Given the description of an element on the screen output the (x, y) to click on. 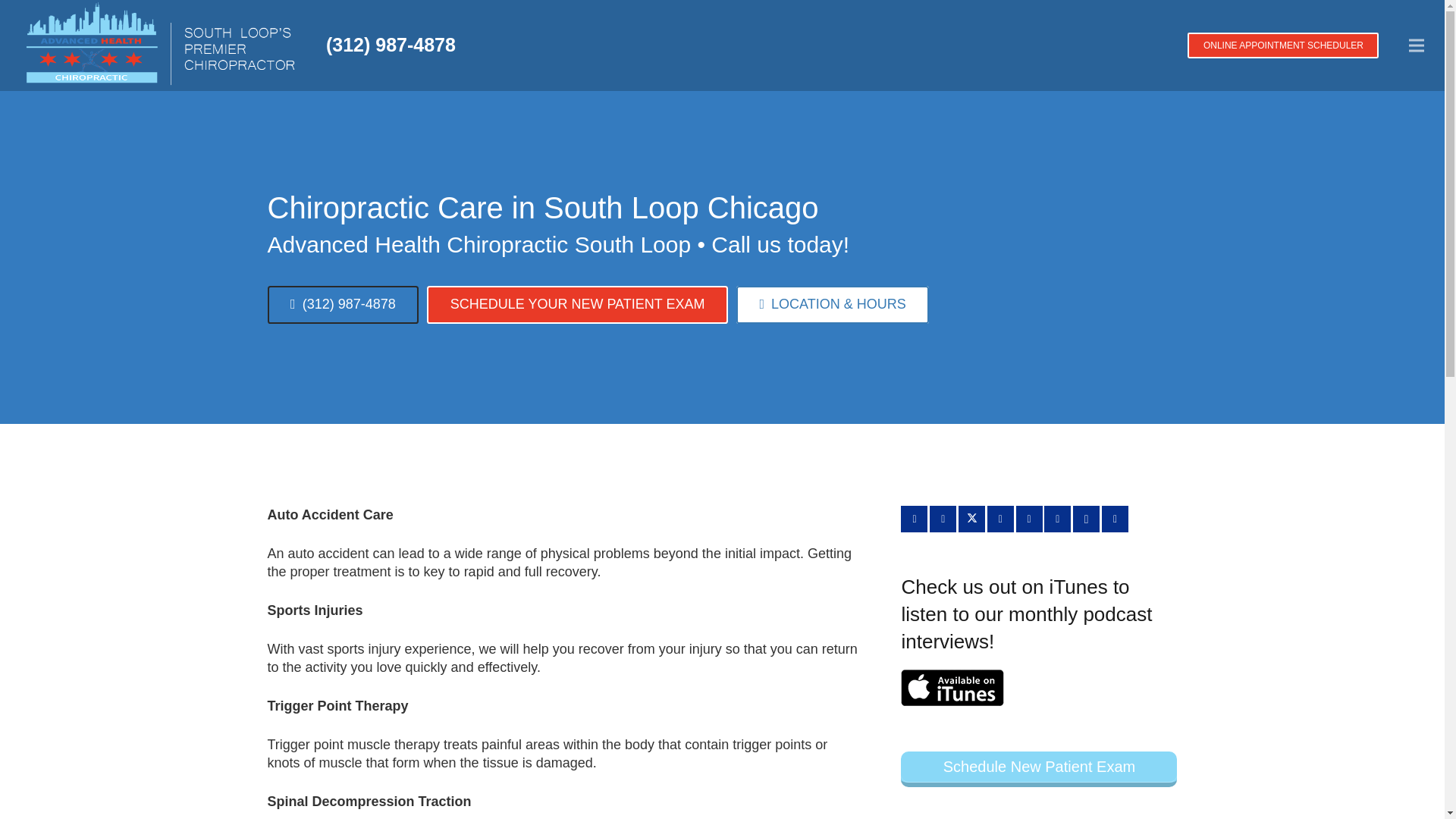
ONLINE APPOINTMENT SCHEDULER (1283, 45)
LinkedIn (1029, 519)
Instagram (1086, 519)
Facebook (943, 519)
Google (1000, 519)
SCHEDULE YOUR NEW PATIENT EXAM (577, 304)
Schedule New Patient Exam (1038, 769)
Email (914, 519)
YouTube (1056, 519)
Twitter (971, 519)
Yelp (1115, 519)
